Given the description of an element on the screen output the (x, y) to click on. 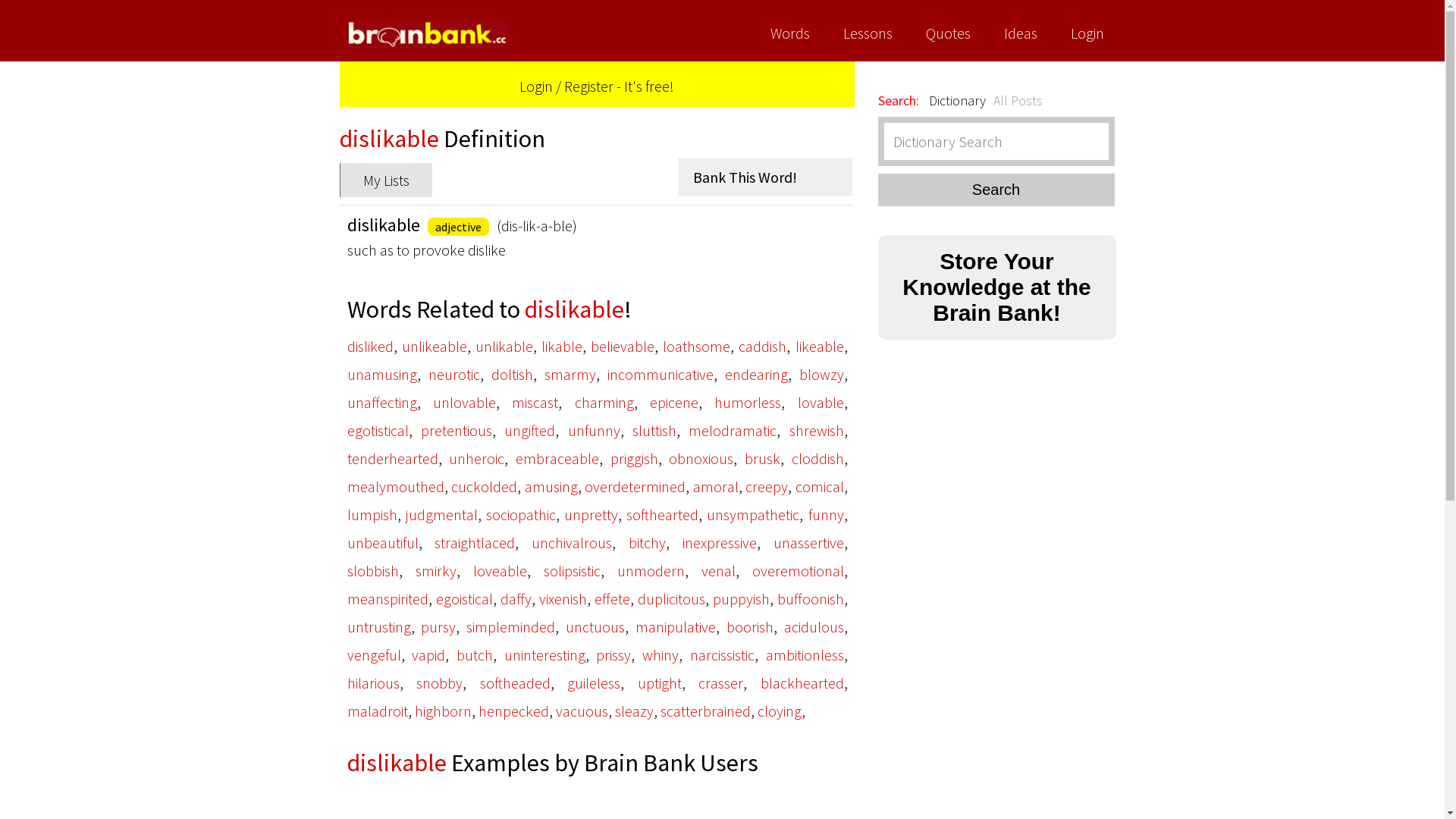
straightlaced Element type: text (474, 542)
cuckolded Element type: text (484, 485)
snobby Element type: text (439, 682)
amoral Element type: text (715, 485)
slobbish Element type: text (372, 570)
solipsistic Element type: text (570, 570)
pursy Element type: text (437, 626)
sociopathic Element type: text (520, 514)
tenderhearted Element type: text (392, 457)
sluttish Element type: text (654, 429)
Words Element type: text (789, 30)
highborn Element type: text (442, 710)
Lessons Element type: text (867, 30)
embraceable Element type: text (557, 457)
My Lists Element type: text (385, 180)
obnoxious Element type: text (700, 457)
blowzy Element type: text (821, 373)
manipulative Element type: text (675, 626)
hilarious Element type: text (373, 682)
doltish Element type: text (512, 373)
comical Element type: text (818, 485)
narcissistic Element type: text (722, 654)
softheaded Element type: text (514, 682)
unamusing Element type: text (382, 373)
uptight Element type: text (658, 682)
caddish Element type: text (762, 345)
lovable Element type: text (820, 401)
unfunny Element type: text (593, 429)
priggish Element type: text (634, 457)
neurotic Element type: text (453, 373)
smirky Element type: text (435, 570)
creepy Element type: text (766, 485)
unlikable Element type: text (504, 345)
maladroit Element type: text (377, 710)
vacuous Element type: text (581, 710)
uninteresting Element type: text (544, 654)
unctuous Element type: text (594, 626)
judgmental Element type: text (441, 514)
unsympathetic Element type: text (752, 514)
cloying Element type: text (778, 710)
overemotional Element type: text (798, 570)
funny Element type: text (826, 514)
whiny Element type: text (660, 654)
unassertive Element type: text (808, 542)
effete Element type: text (612, 598)
scatterbrained Element type: text (704, 710)
unpretty Element type: text (591, 514)
loveable Element type: text (500, 570)
sleazy Element type: text (633, 710)
duplicitous Element type: text (670, 598)
unchivalrous Element type: text (571, 542)
lumpish Element type: text (372, 514)
henpecked Element type: text (512, 710)
unaffecting Element type: text (382, 401)
guileless Element type: text (593, 682)
miscast Element type: text (534, 401)
unlovable Element type: text (464, 401)
acidulous Element type: text (814, 626)
disliked Element type: text (370, 345)
likeable Element type: text (819, 345)
Quotes Element type: text (947, 30)
daffy Element type: text (515, 598)
puppyish Element type: text (740, 598)
blackhearted Element type: text (801, 682)
Register - It's free! Element type: text (619, 85)
brusk Element type: text (762, 457)
melodramatic Element type: text (732, 429)
simpleminded Element type: text (510, 626)
vixenish Element type: text (562, 598)
egotistical Element type: text (377, 429)
epicene Element type: text (673, 401)
mealymouthed Element type: text (395, 485)
inexpressive Element type: text (719, 542)
boorish Element type: text (749, 626)
vapid Element type: text (428, 654)
cloddish Element type: text (817, 457)
ungifted Element type: text (529, 429)
Search Element type: text (996, 189)
loathsome Element type: text (696, 345)
unlikeable Element type: text (434, 345)
venal Element type: text (717, 570)
bitchy Element type: text (646, 542)
untrusting Element type: text (379, 626)
meanspirited Element type: text (387, 598)
unbeautiful Element type: text (382, 542)
ambitionless Element type: text (804, 654)
Bank This Word! Element type: text (764, 176)
egoistical Element type: text (463, 598)
prissy Element type: text (613, 654)
endearing Element type: text (755, 373)
pretentious Element type: text (456, 429)
smarmy Element type: text (570, 373)
incommunicative Element type: text (659, 373)
buffoonish Element type: text (809, 598)
overdetermined Element type: text (634, 485)
amusing Element type: text (550, 485)
vengeful Element type: text (374, 654)
charming Element type: text (603, 401)
softhearted Element type: text (662, 514)
butch Element type: text (474, 654)
shrewish Element type: text (816, 429)
unmodern Element type: text (650, 570)
humorless Element type: text (747, 401)
unheroic Element type: text (476, 457)
crasser Element type: text (720, 682)
Login Element type: text (535, 85)
believable Element type: text (622, 345)
Login Element type: text (1087, 30)
likable Element type: text (561, 345)
Ideas Element type: text (1020, 30)
